Given the description of an element on the screen output the (x, y) to click on. 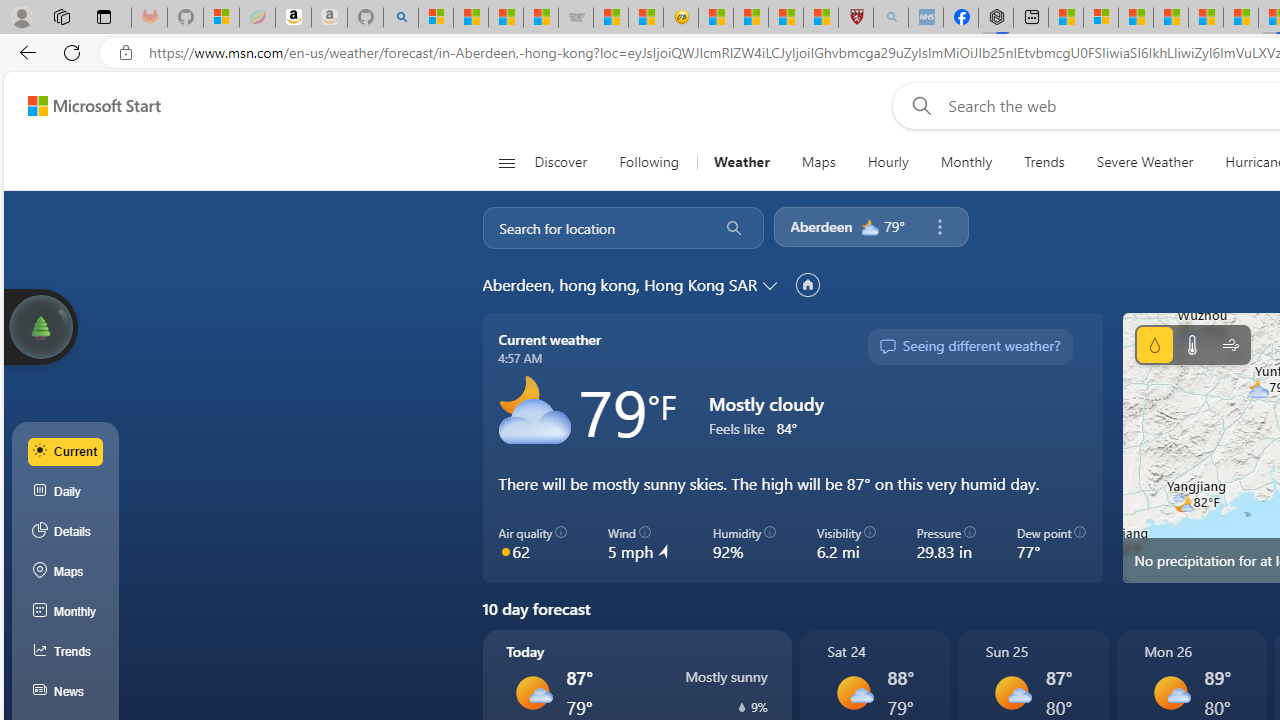
Wind 5 mph (639, 543)
Maps (818, 162)
Class: button-glyph (505, 162)
Monthly (966, 162)
Web search (917, 105)
Weather (741, 162)
Join us in planting real trees to help our planet! (40, 325)
Class: aqiColorCycle-DS-EntryPoint1-1 (505, 551)
